Given the description of an element on the screen output the (x, y) to click on. 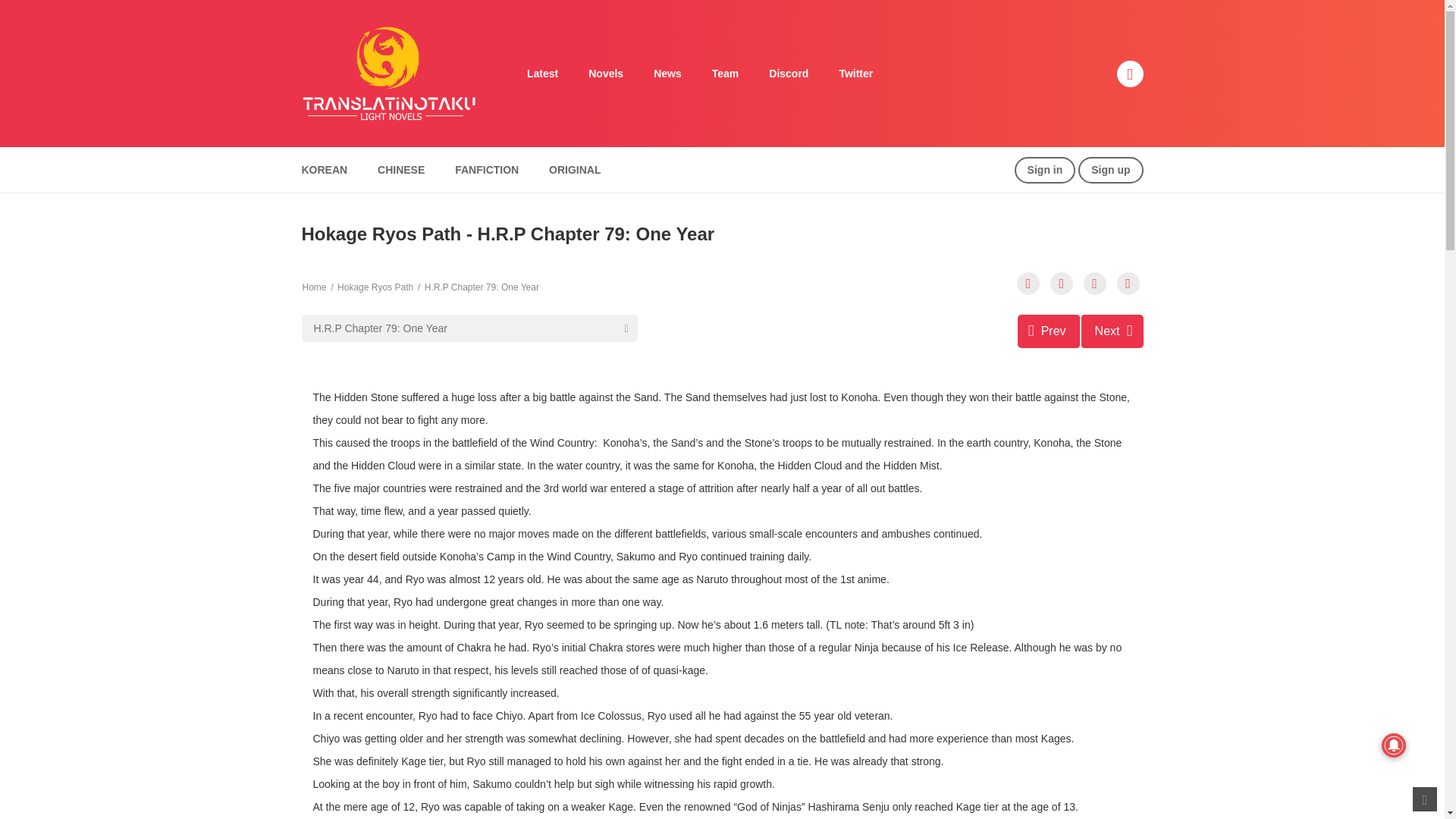
Next (1111, 331)
Latest (542, 73)
Bookmark (1094, 282)
H.R.P Chapter 80: Back to Konoha (1111, 331)
FANFICTION (486, 170)
TranslatinOtaku (388, 72)
KOREAN (323, 170)
Twitter (856, 73)
Discord (789, 73)
Sign in (1044, 170)
Search (970, 9)
Team (725, 73)
Prev (1048, 331)
News (668, 73)
Home (313, 286)
